Given the description of an element on the screen output the (x, y) to click on. 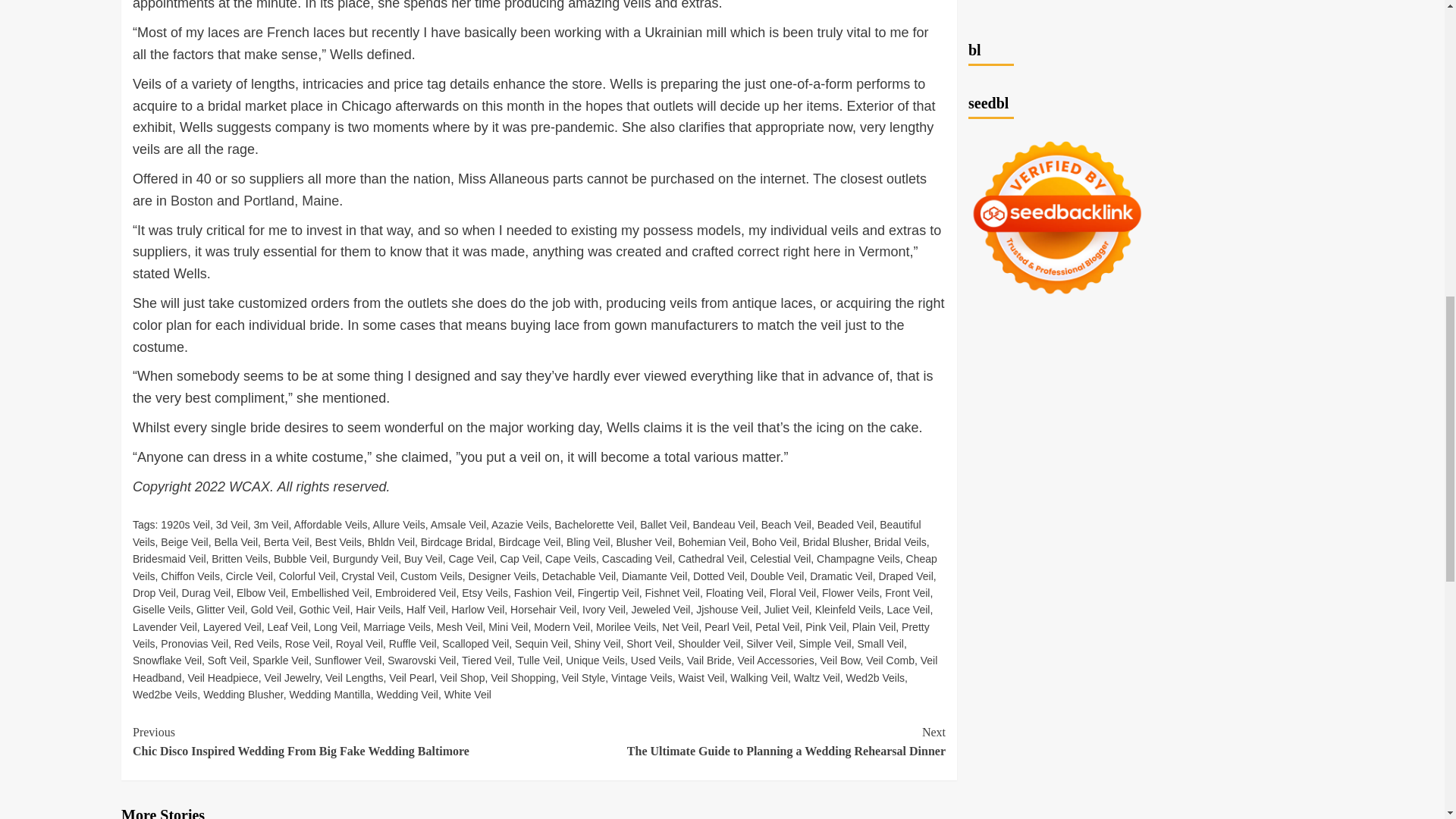
3d Veil (231, 524)
Bachelorette Veil (593, 524)
1920s Veil (184, 524)
Boston (191, 200)
Azazie Veils (520, 524)
3m Veil (270, 524)
Portland, Maine (291, 200)
Affordable Veils (331, 524)
Allure Veils (398, 524)
Amsale Veil (458, 524)
